Given the description of an element on the screen output the (x, y) to click on. 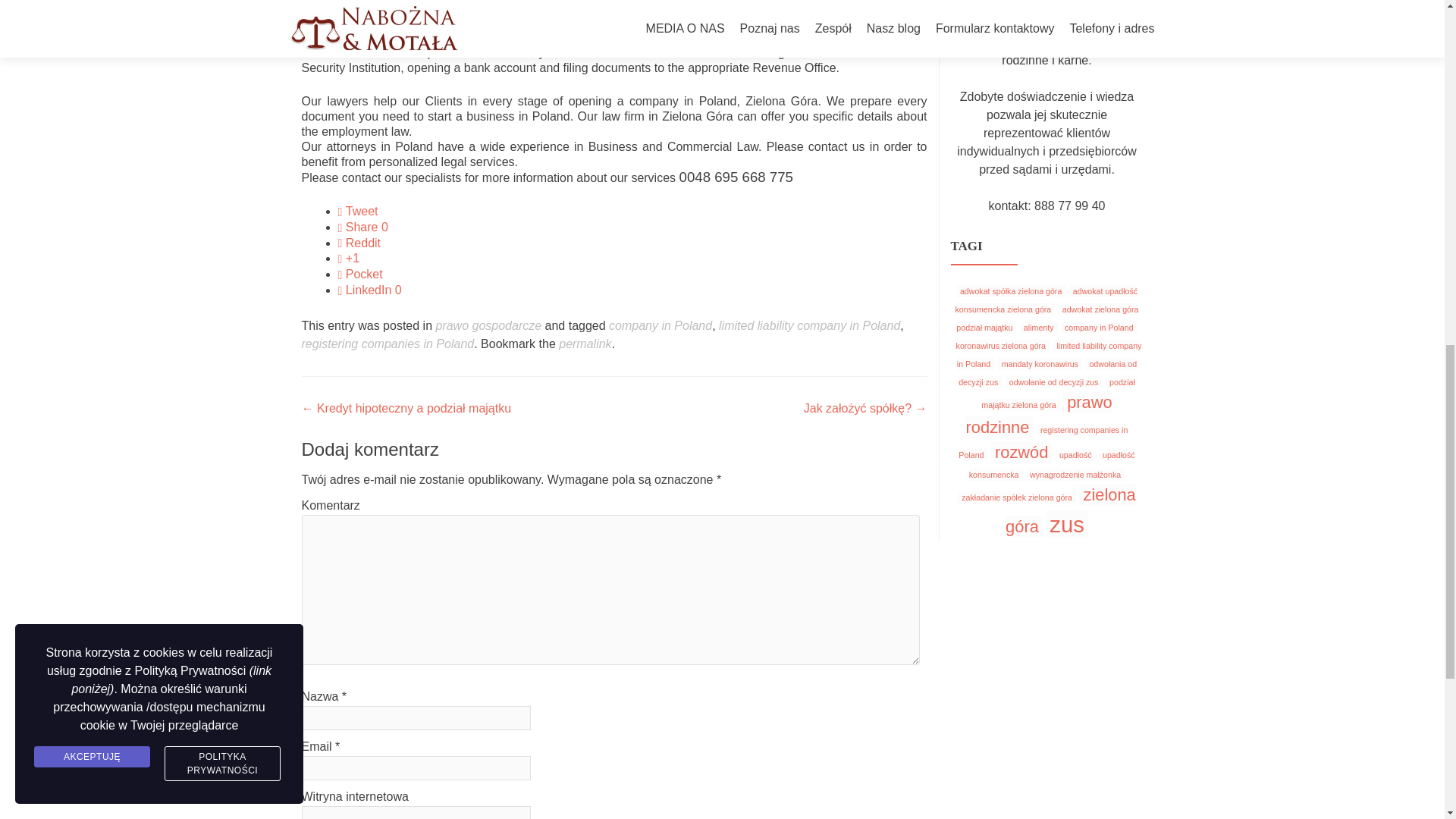
limited liability company in Poland (809, 325)
Reddit (359, 242)
permalink (585, 343)
registering companies in Poland (1042, 442)
mandaty koronawirus (1039, 363)
Tweet (357, 210)
LinkedIn 0 (369, 289)
prawo gospodarcze (488, 325)
Tweet on Twitter (357, 210)
Share 0 (362, 226)
alimenty (1039, 327)
Submit to Reddit (359, 242)
company in Poland (1099, 327)
company in Poland (659, 325)
prawo rodzinne (1039, 414)
